Given the description of an element on the screen output the (x, y) to click on. 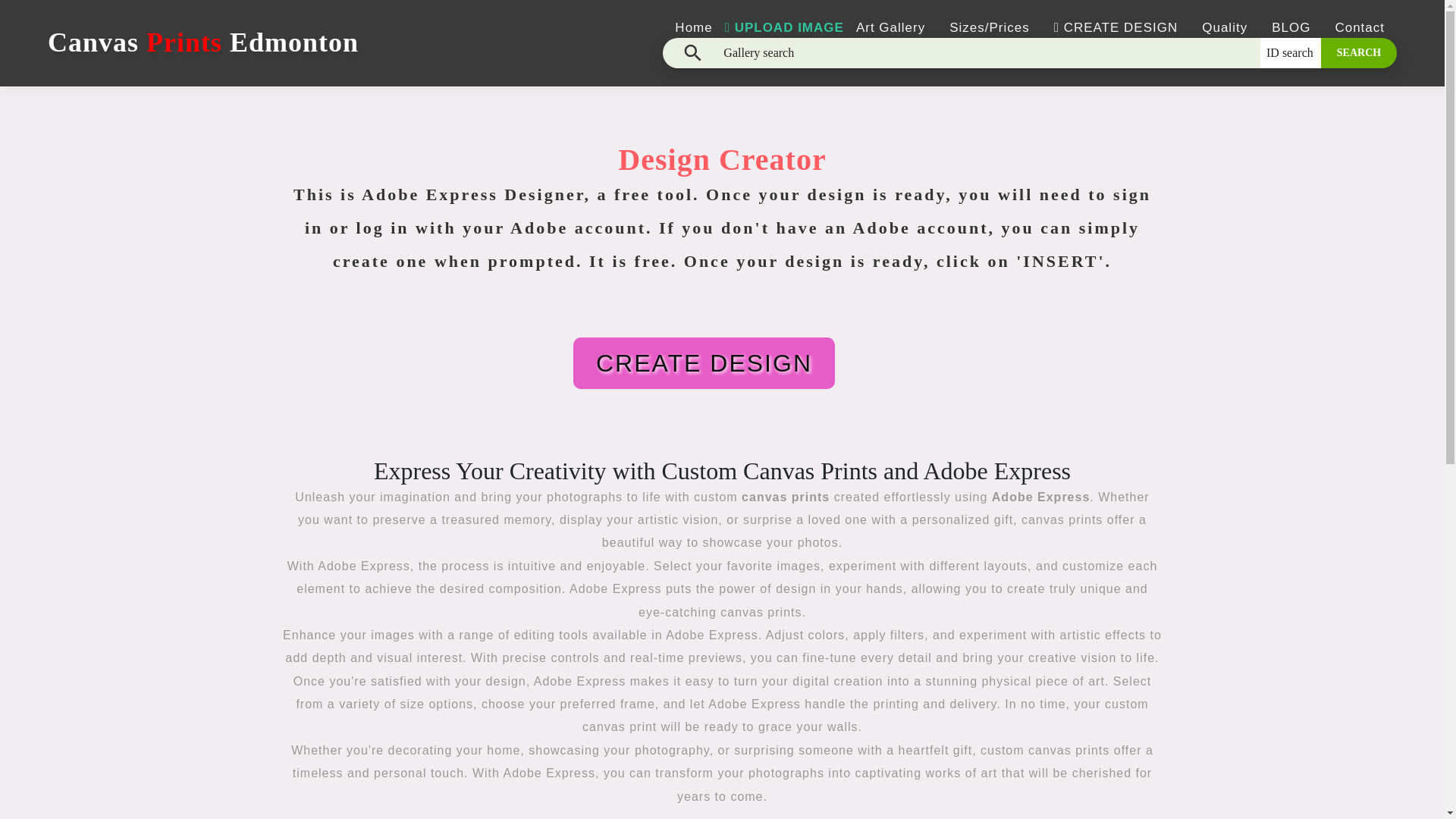
Canvas Prints Edmonton (203, 42)
Quality (1224, 27)
Contact (1359, 27)
Create Design (840, 316)
Art Gallery (890, 27)
Canvas Prints Edmonton (203, 34)
Home (693, 27)
SEARCH (1358, 52)
Create Design (727, 404)
BLOG (1290, 27)
